Given the description of an element on the screen output the (x, y) to click on. 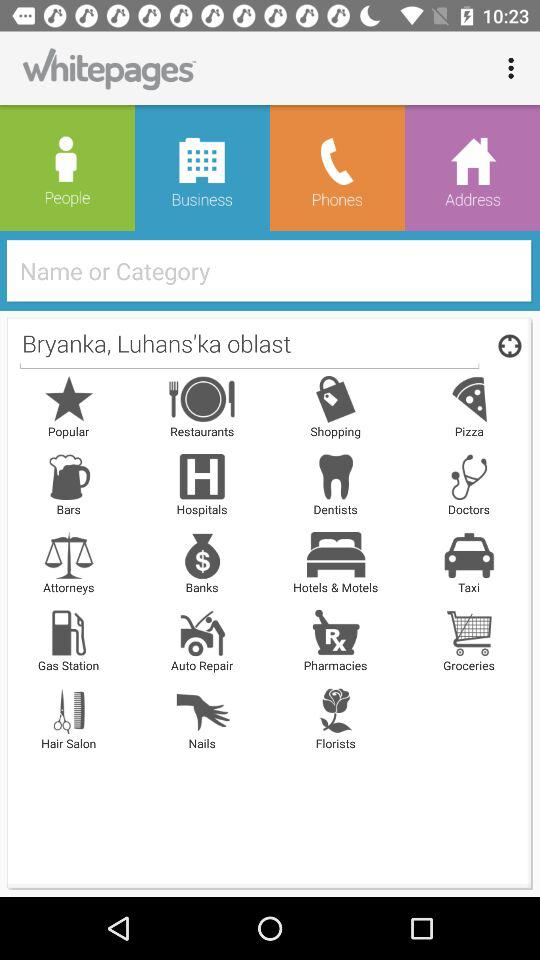
tap icon above the bryanka luhans ka icon (276, 270)
